Given the description of an element on the screen output the (x, y) to click on. 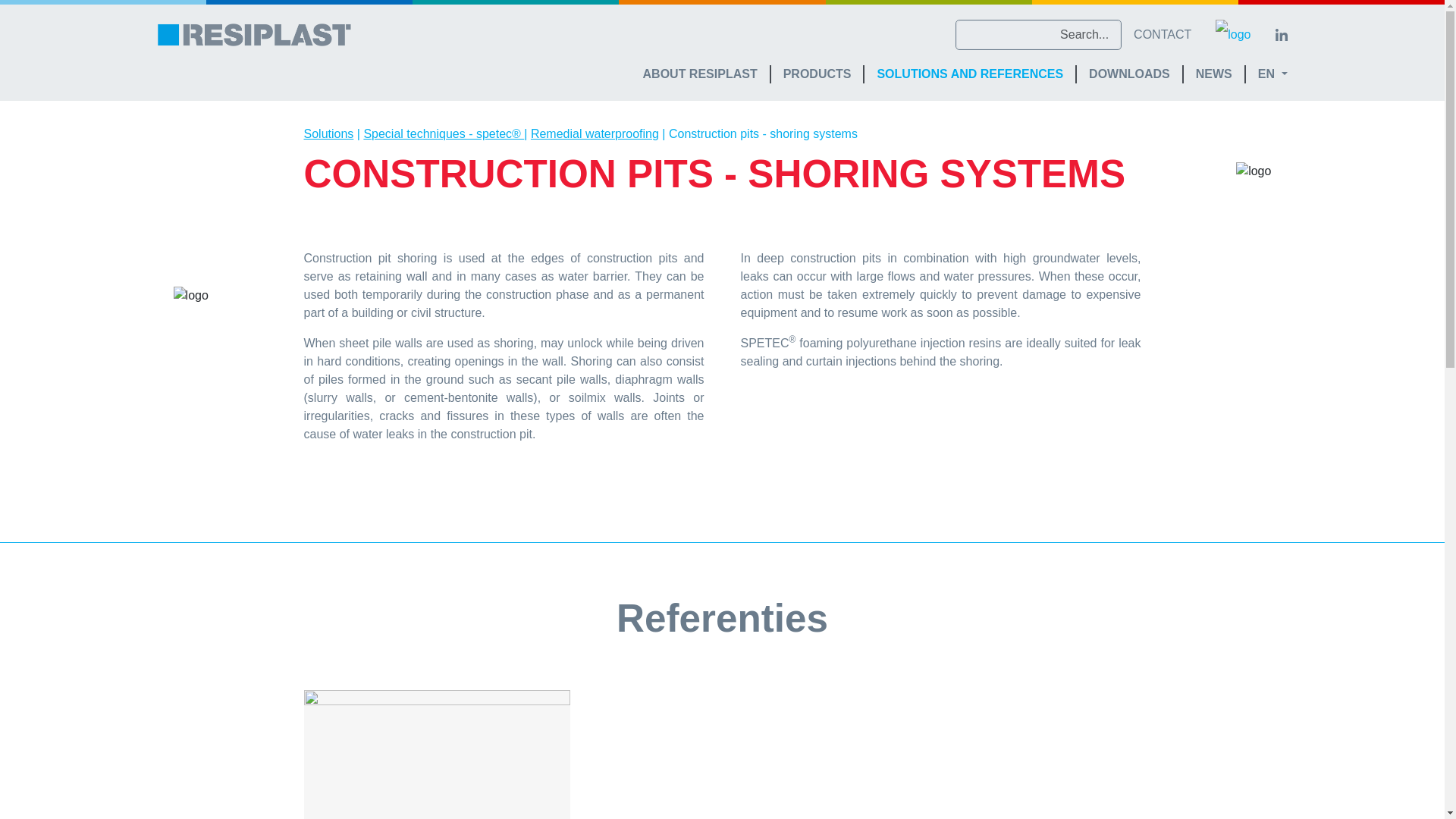
Injection of concrete piles - Anderlecht, BE (436, 754)
SOLUTIONS AND REFERENCES (970, 74)
PRODUCTS (817, 74)
Remedial waterproofing (595, 133)
EN (1273, 74)
CONTACT (1162, 34)
NEWS (1214, 74)
ABOUT RESIPLAST (700, 74)
Solutions (327, 133)
DOWNLOADS (1130, 74)
